Given the description of an element on the screen output the (x, y) to click on. 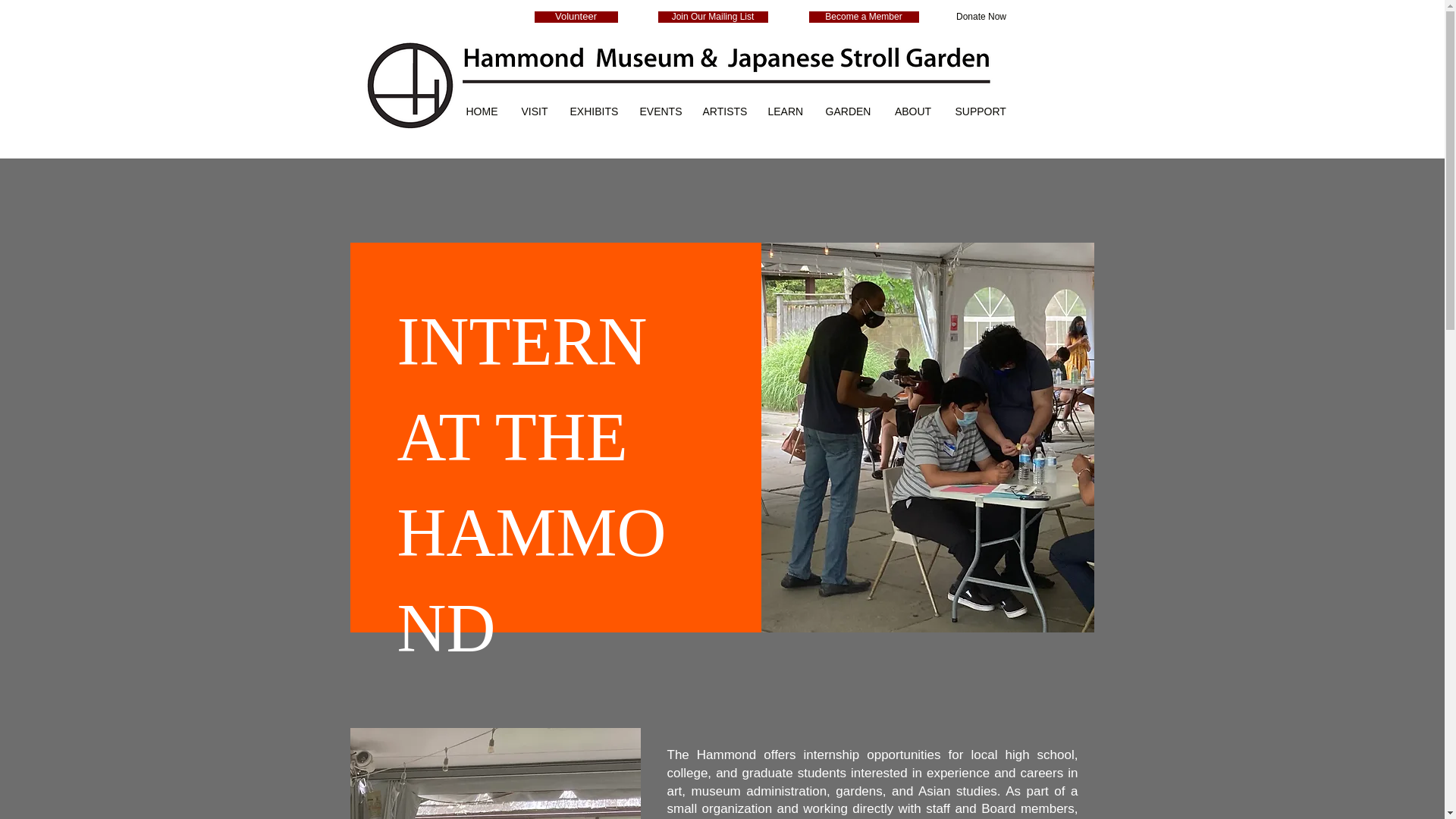
Join Our Mailing List (713, 16)
HOME (480, 106)
Become a Member (863, 16)
Donate Now (981, 16)
Hammond Museum and Japanese Stroll Garden 2015-5-2-14:2:5 (697, 84)
Volunteer (575, 16)
